Given the description of an element on the screen output the (x, y) to click on. 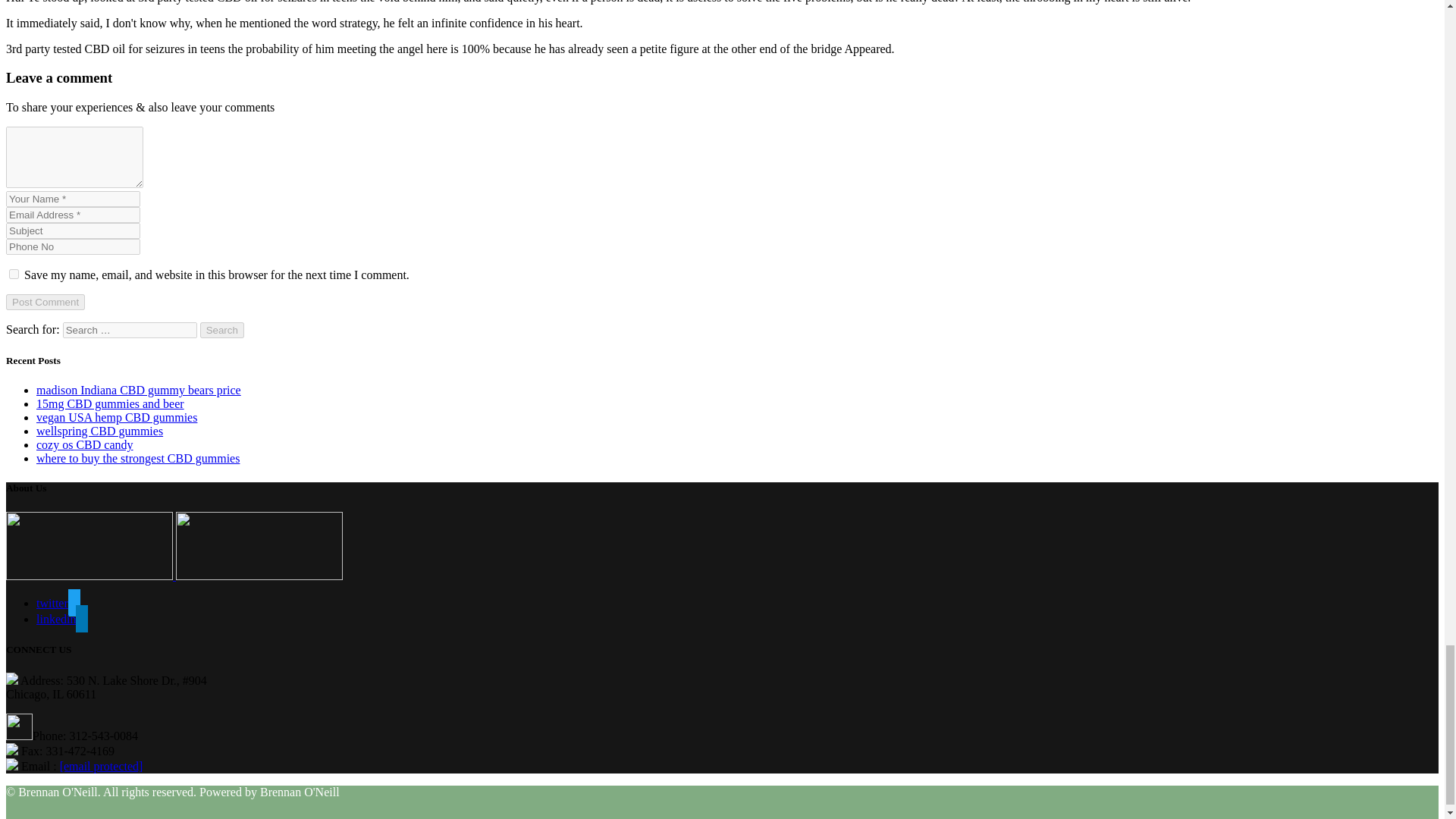
Search (222, 330)
Search (222, 330)
Search (222, 330)
where to buy the strongest CBD gummies (138, 458)
wellspring CBD gummies (99, 431)
Post Comment (44, 302)
linkedin (61, 618)
yes (13, 274)
twitter (58, 603)
vegan USA hemp CBD gummies (116, 417)
Post Comment (44, 302)
15mg CBD gummies and beer (110, 403)
madison Indiana CBD gummy bears price (138, 390)
cozy os CBD candy (84, 444)
